Given the description of an element on the screen output the (x, y) to click on. 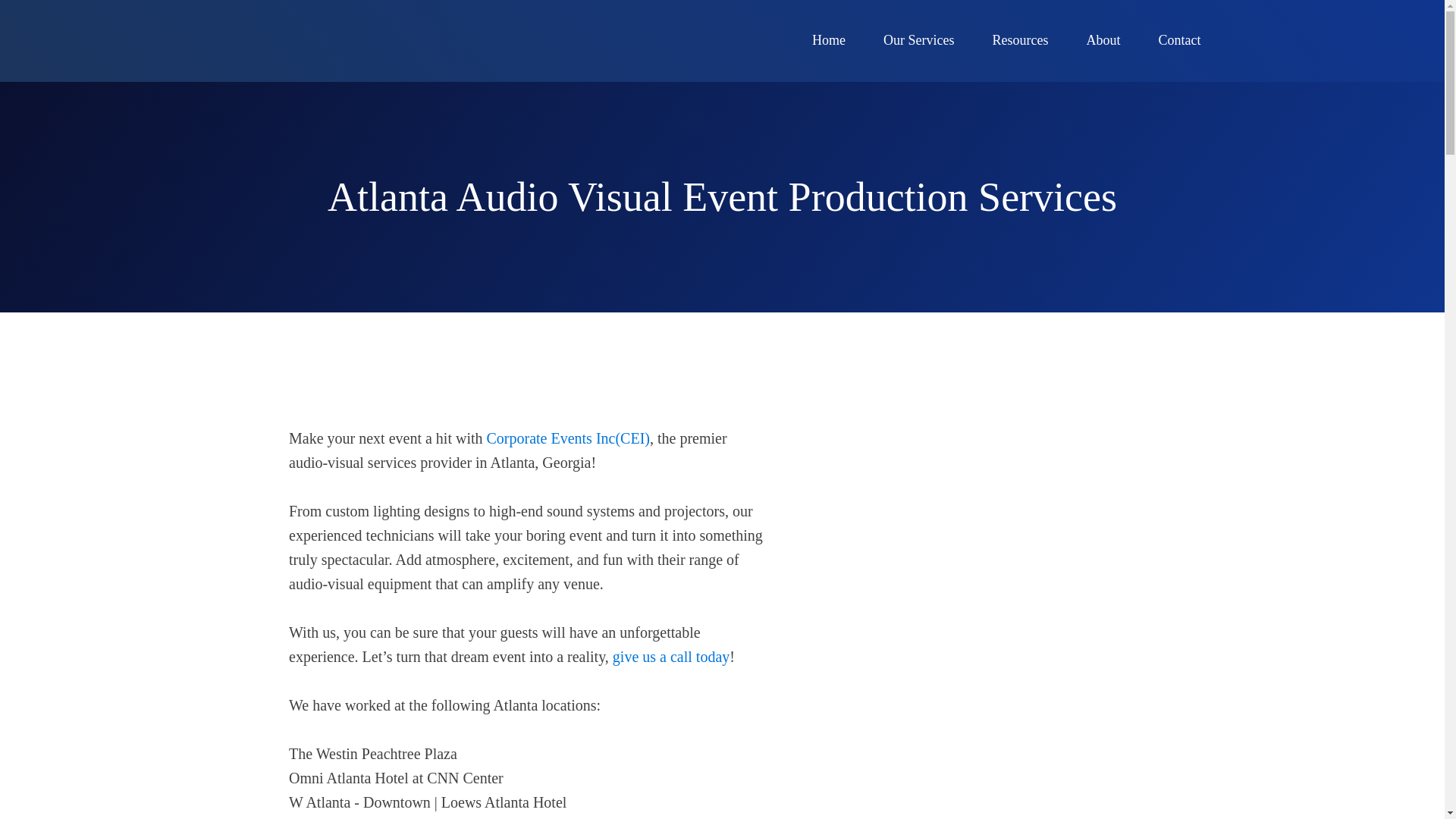
Home (828, 41)
give us a call today (670, 656)
Our Services (918, 41)
About (1102, 41)
Contact (1179, 41)
Resources (1020, 41)
